Given the description of an element on the screen output the (x, y) to click on. 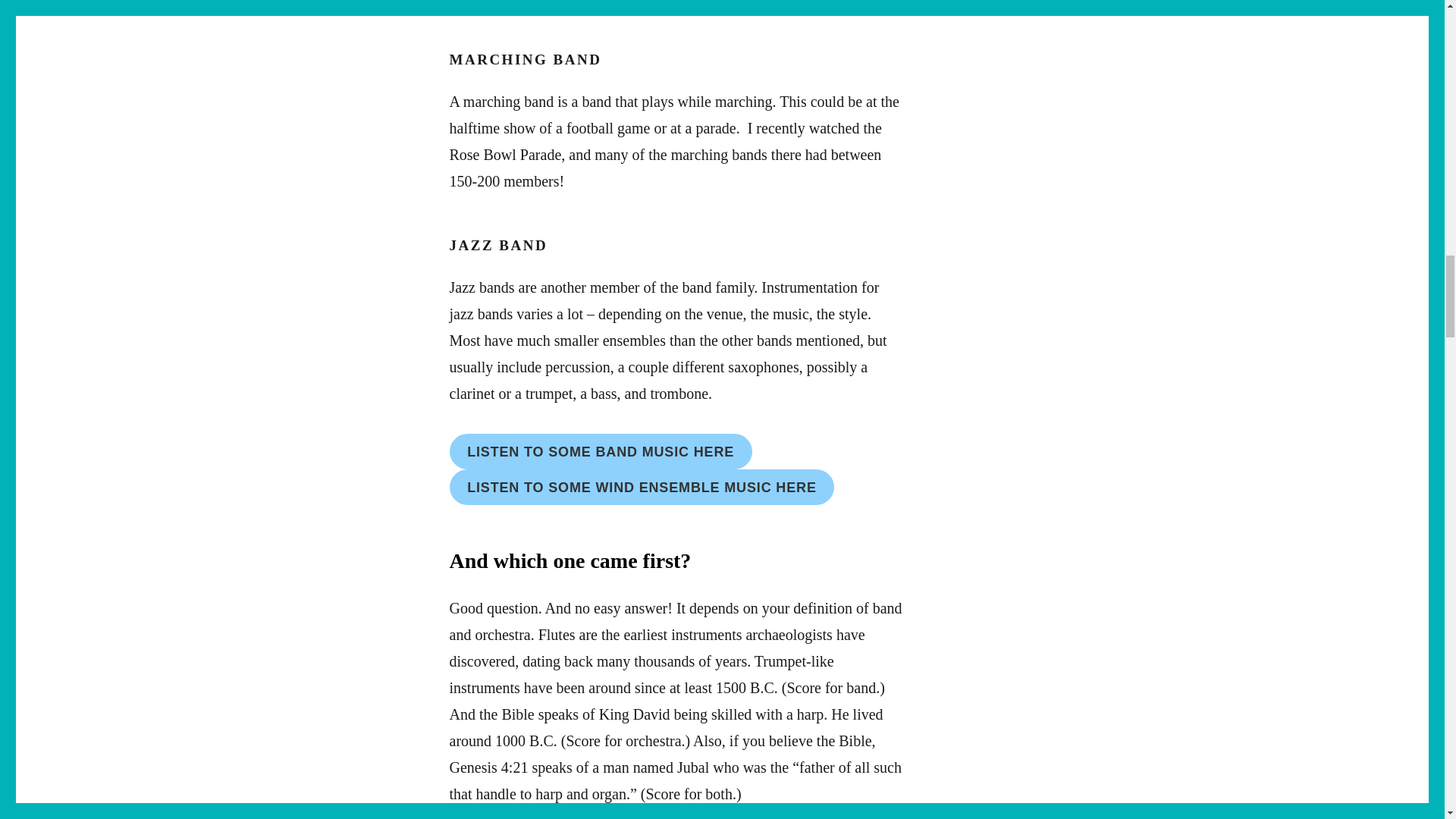
LISTEN TO SOME WIND ENSEMBLE MUSIC HERE (641, 487)
LISTEN TO SOME BAND MUSIC HERE (599, 451)
